Given the description of an element on the screen output the (x, y) to click on. 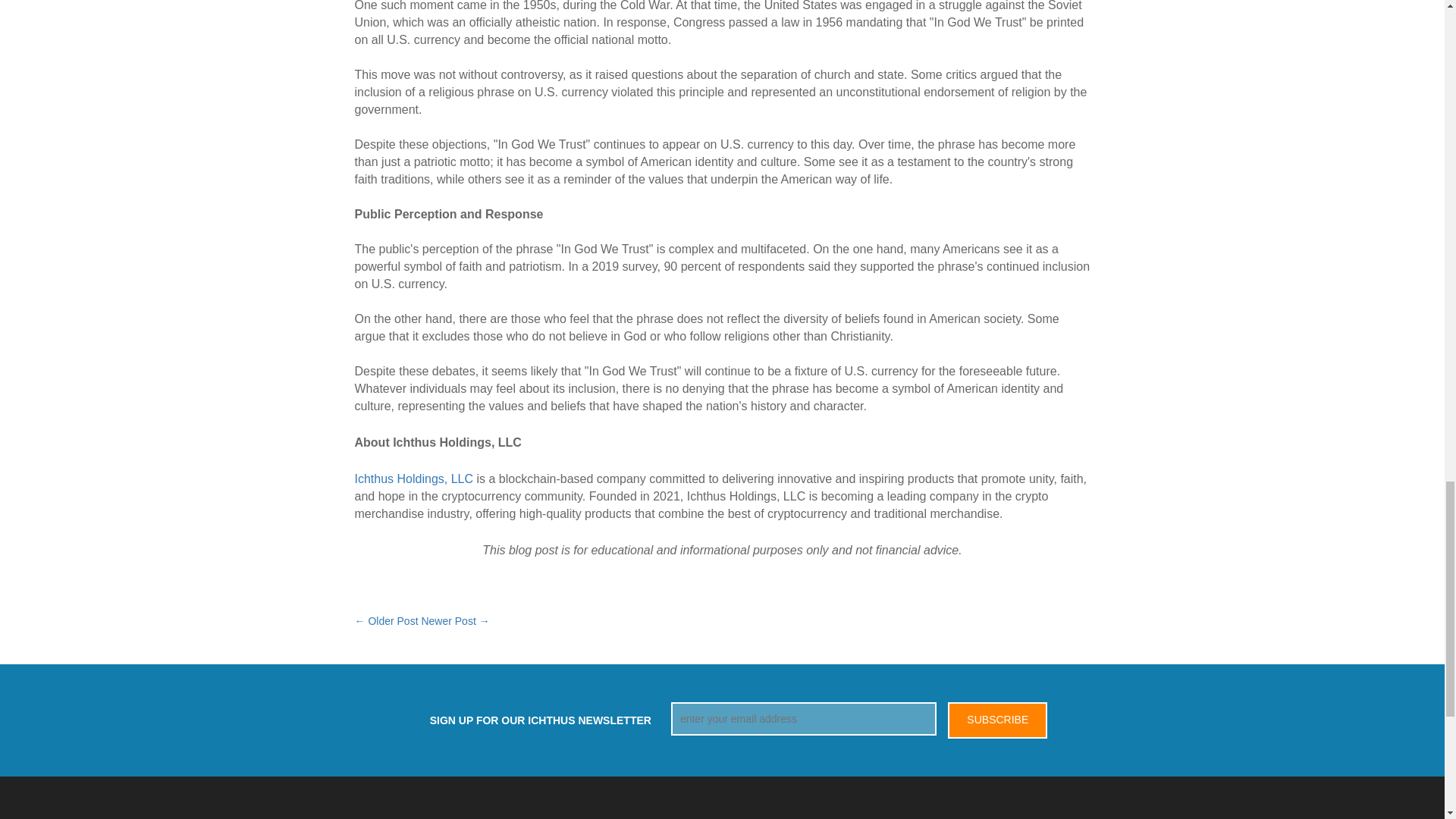
Ichthus Holdings, LLC (414, 478)
SUBSCRIBE (996, 719)
